Given the description of an element on the screen output the (x, y) to click on. 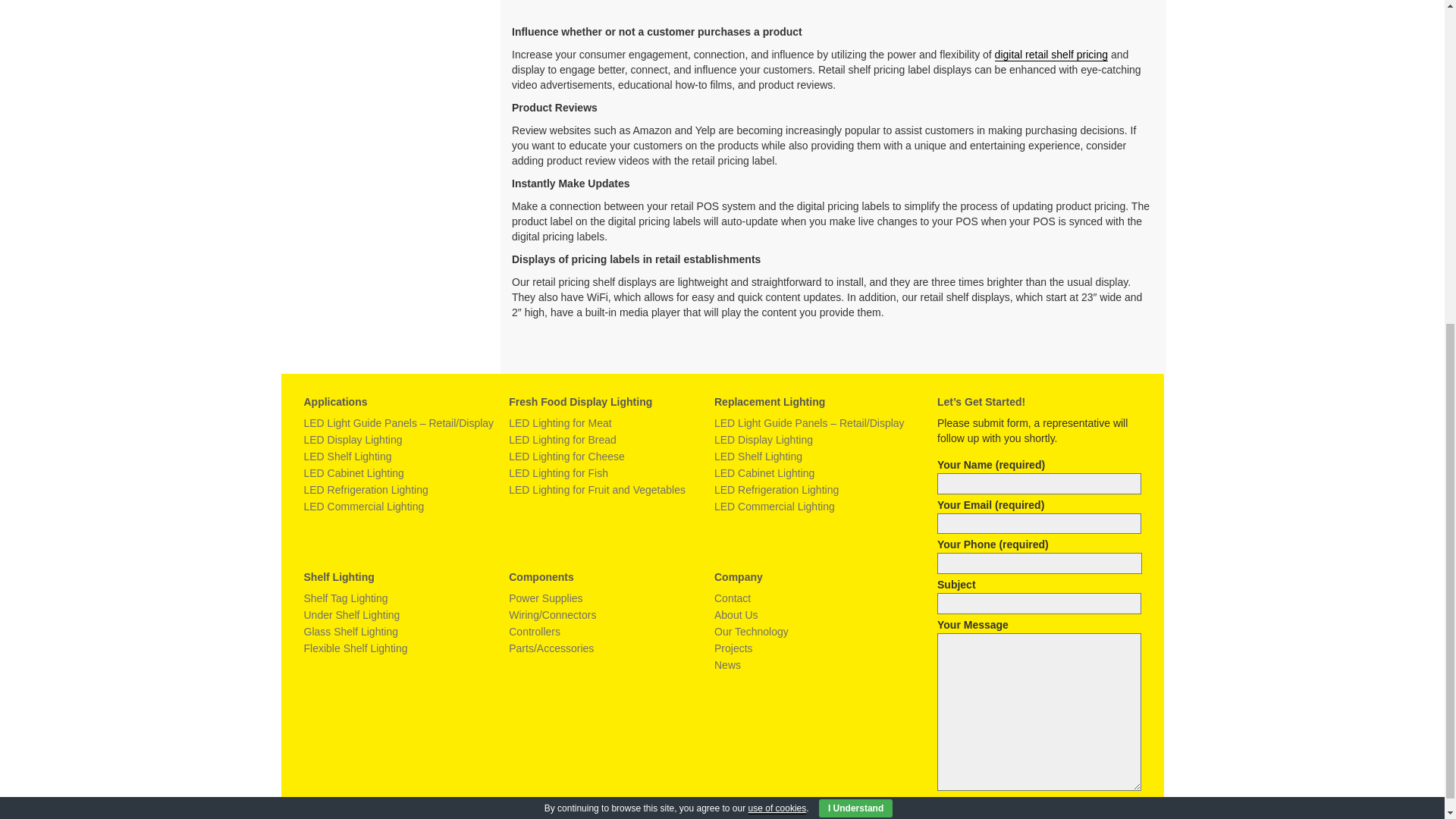
LED Display Lighting (763, 439)
LED Shelf Lighting (758, 456)
LED Display Lighting (351, 439)
LED Shelf Lighting (346, 456)
Under Shelf Lighting (350, 614)
LED Refrigeration Lighting (776, 490)
Shelf Tag Lighting (344, 598)
Glass Shelf Lighting (349, 631)
LED Cabinet Lighting (352, 472)
LED Lighting for Fish (558, 472)
Power Supplies (545, 598)
LED Refrigeration Lighting (365, 490)
LED Commercial Lighting (774, 506)
LED Commercial Lighting (362, 506)
LED Lighting for Meat (559, 422)
